Given the description of an element on the screen output the (x, y) to click on. 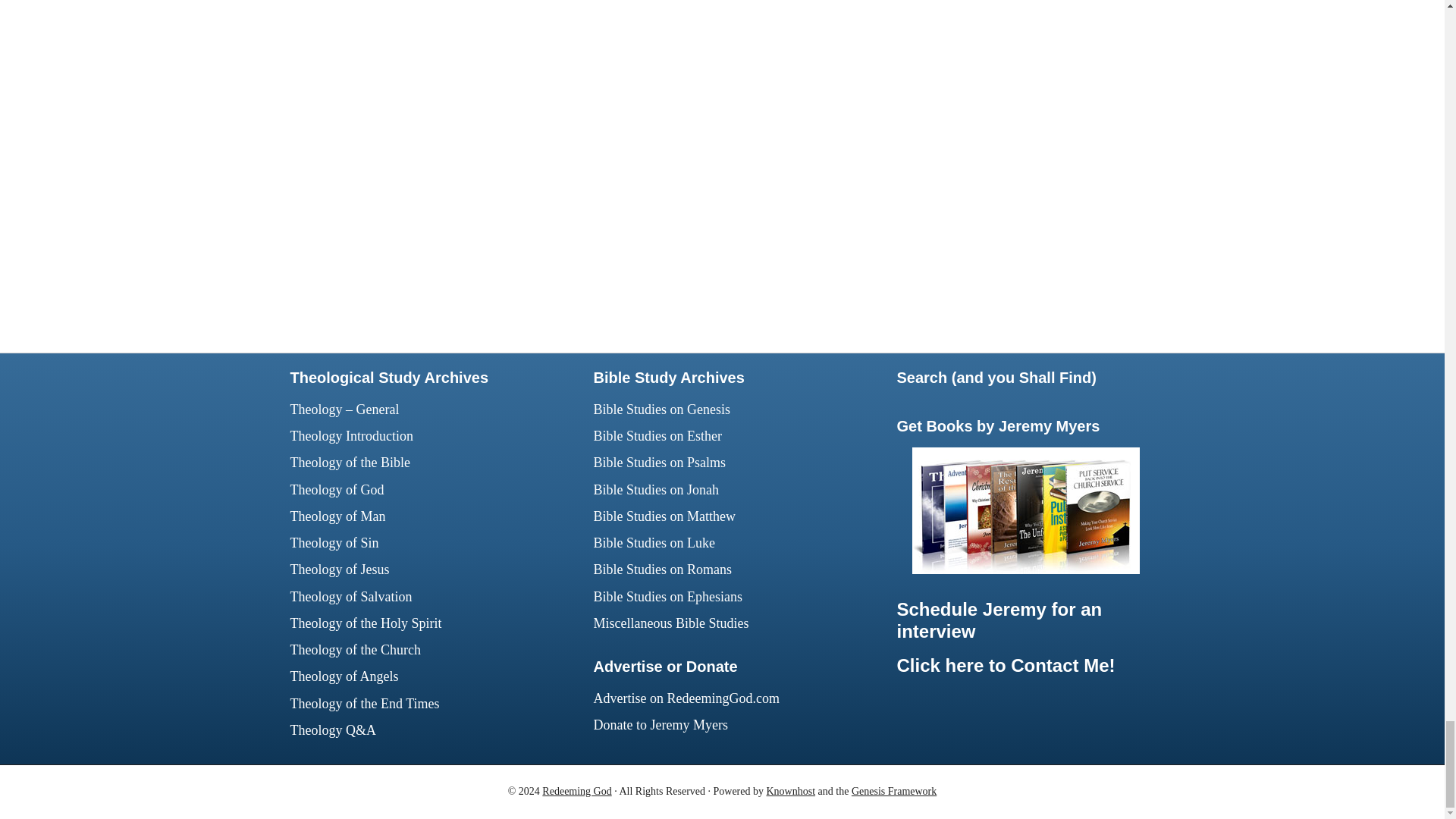
best wordpress hosting (790, 790)
Books by Jeremy Myers (1024, 569)
best wordpress theme (893, 790)
